Given the description of an element on the screen output the (x, y) to click on. 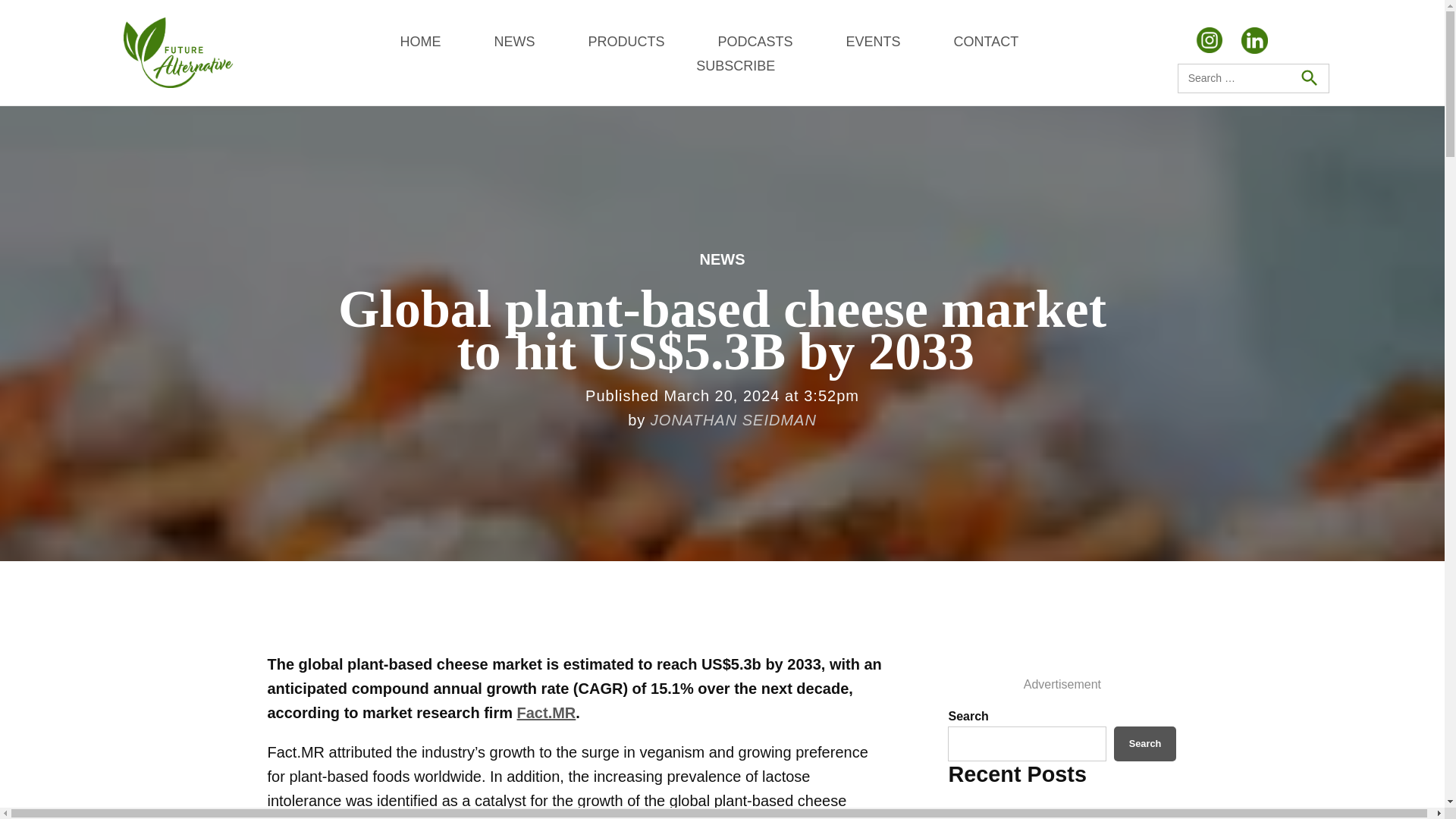
Search (1144, 743)
NEWS (513, 40)
EVENTS (872, 40)
PODCASTS (754, 40)
PRODUCTS (625, 40)
CONTACT (986, 40)
Search (1308, 78)
NZ cultivated biotech Opo Bio launches new funding round  (1034, 816)
JONATHAN SEIDMAN (733, 419)
POSTS BY JONATHAN SEIDMAN (733, 419)
